Given the description of an element on the screen output the (x, y) to click on. 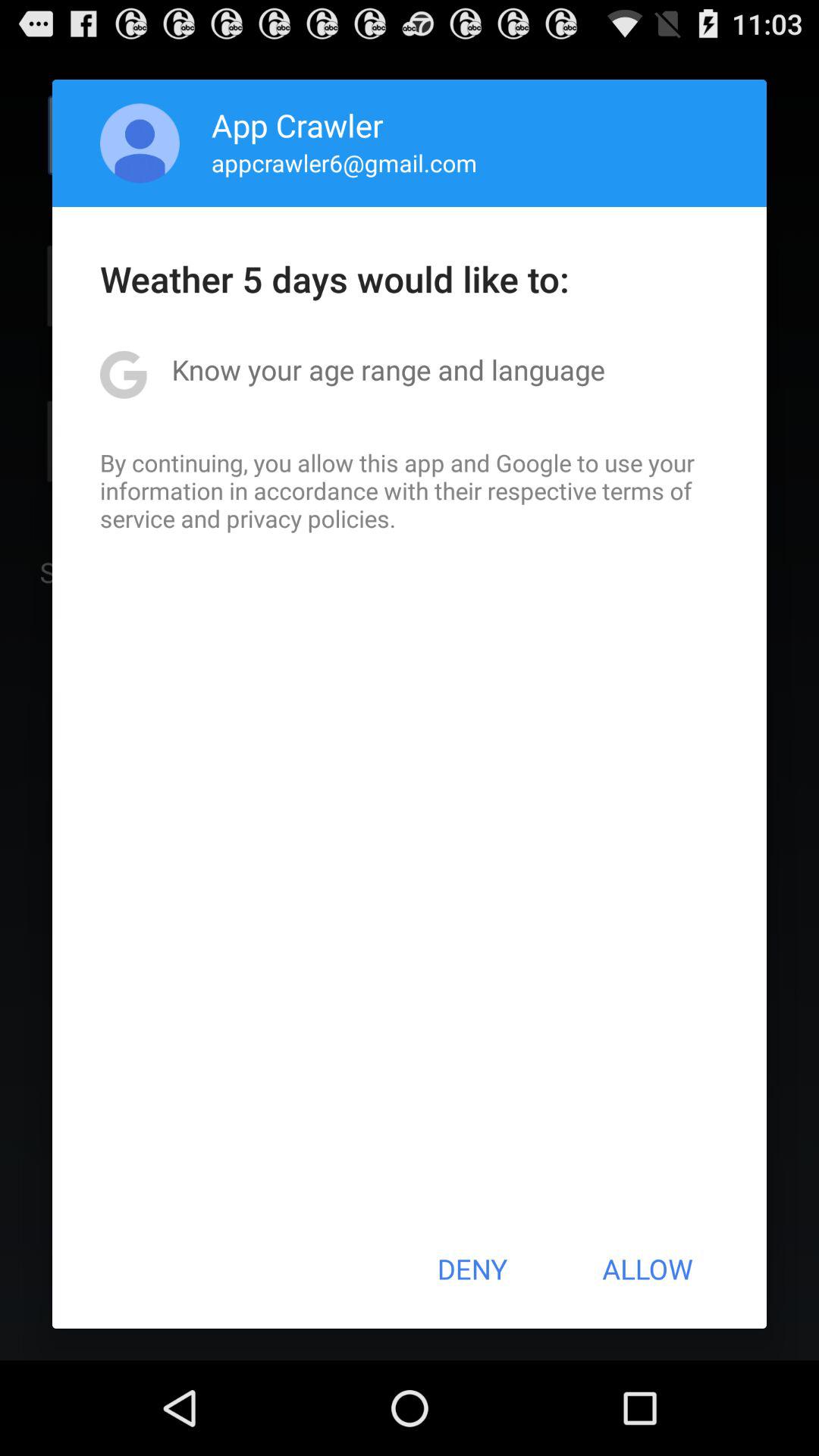
open icon to the left of app crawler item (139, 143)
